Given the description of an element on the screen output the (x, y) to click on. 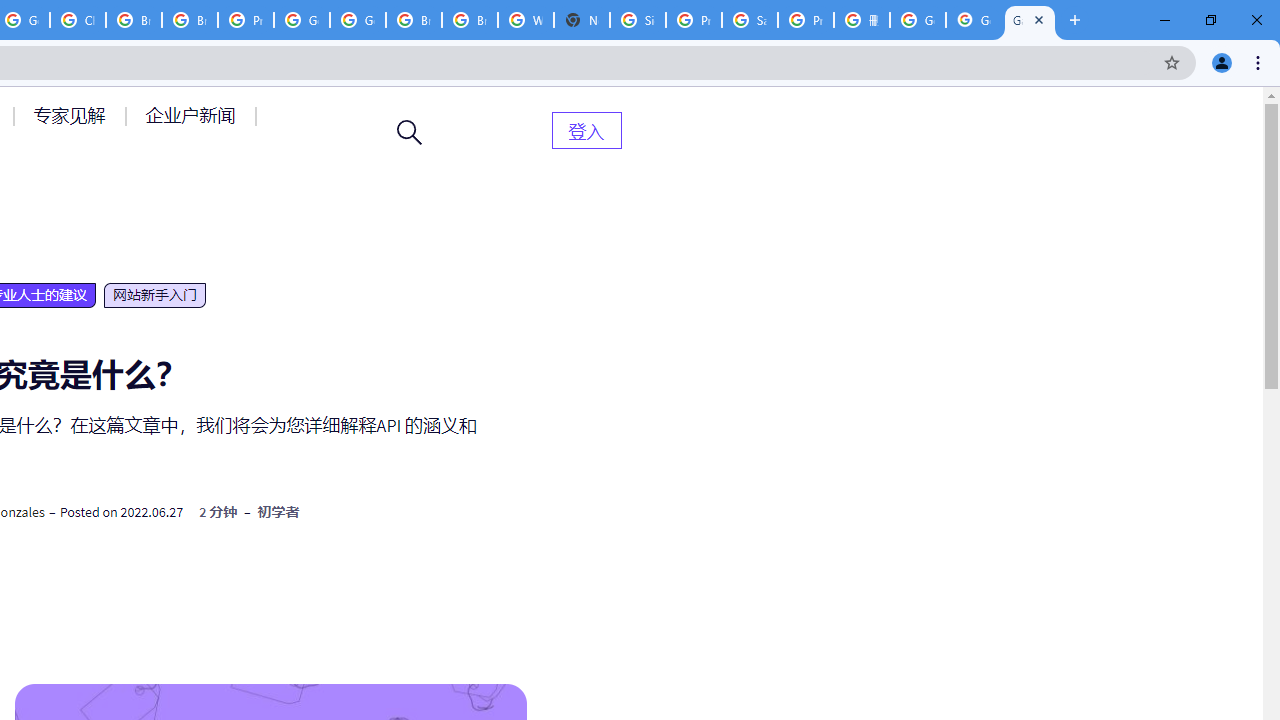
AutomationID: menu-item-82399 (586, 129)
